Given the description of an element on the screen output the (x, y) to click on. 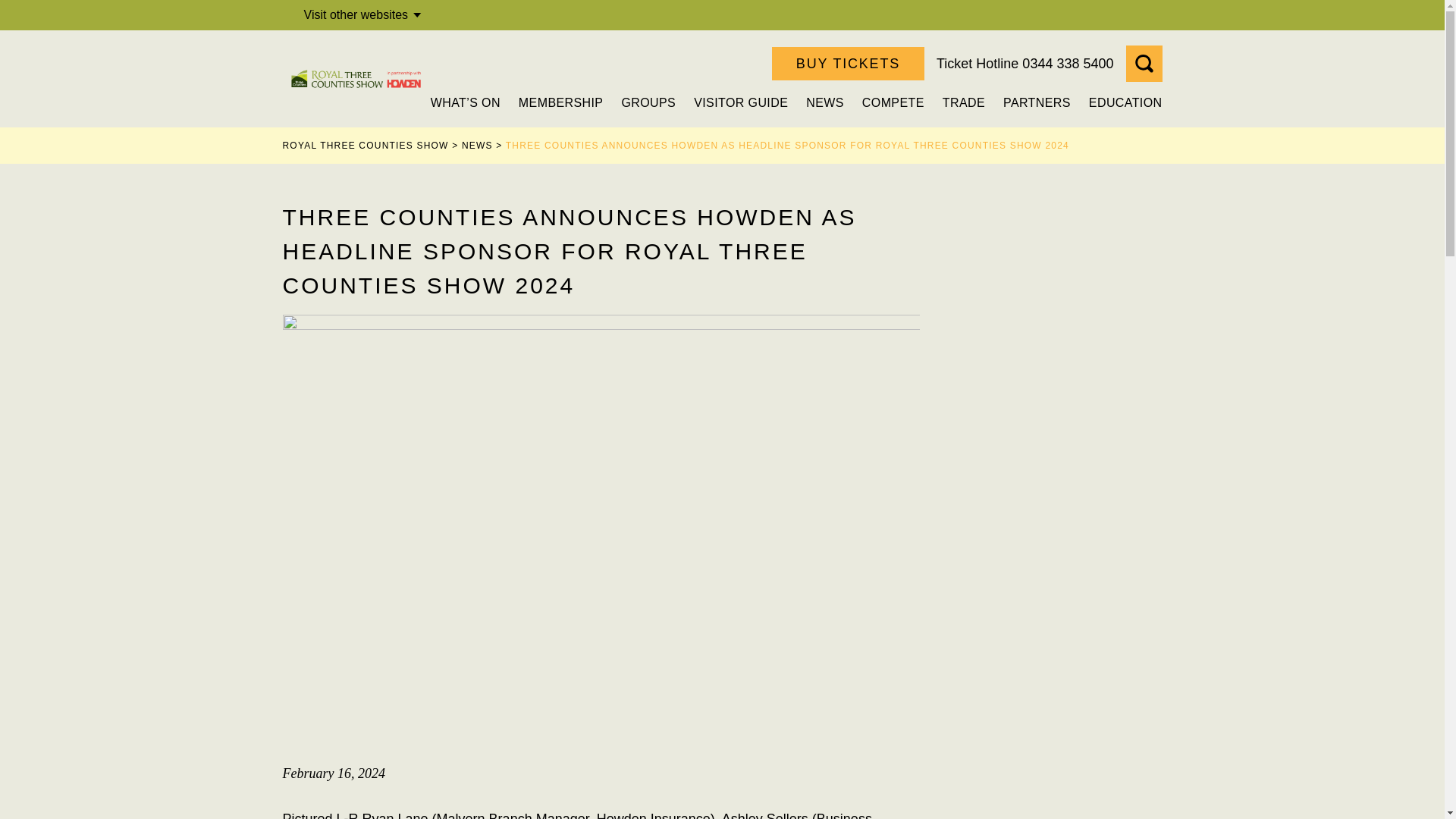
Royal Three Counties Show (355, 78)
Royal Three Counties Show (355, 78)
Ticket Hotline 0344 338 5400 (1024, 63)
COMPETE (892, 102)
EDUCATION (1125, 102)
Visit other websites (365, 15)
Call us on Ticket Hotline 0344 338 5400 (1024, 63)
VISITOR GUIDE (740, 102)
NEWS (825, 102)
TRADE (963, 102)
